Given the description of an element on the screen output the (x, y) to click on. 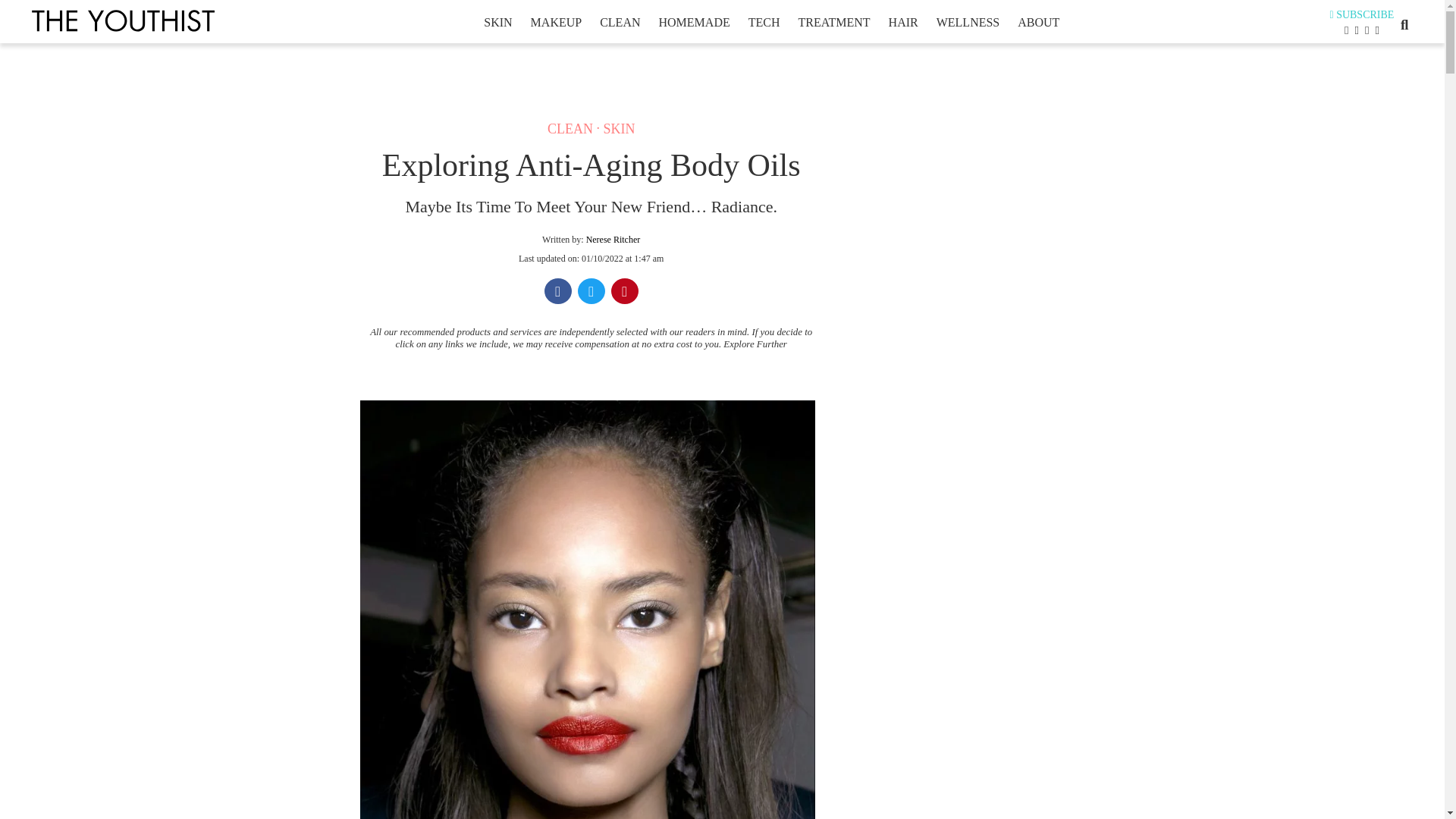
Pinterest (625, 292)
CLEAN (569, 128)
Nerese Ritcher (613, 239)
SKIN (618, 128)
CLEAN (619, 22)
TECH (763, 22)
HOMEMADE (694, 22)
MAKEUP (555, 22)
Facebook (558, 292)
ABOUT (1037, 22)
